Given the description of an element on the screen output the (x, y) to click on. 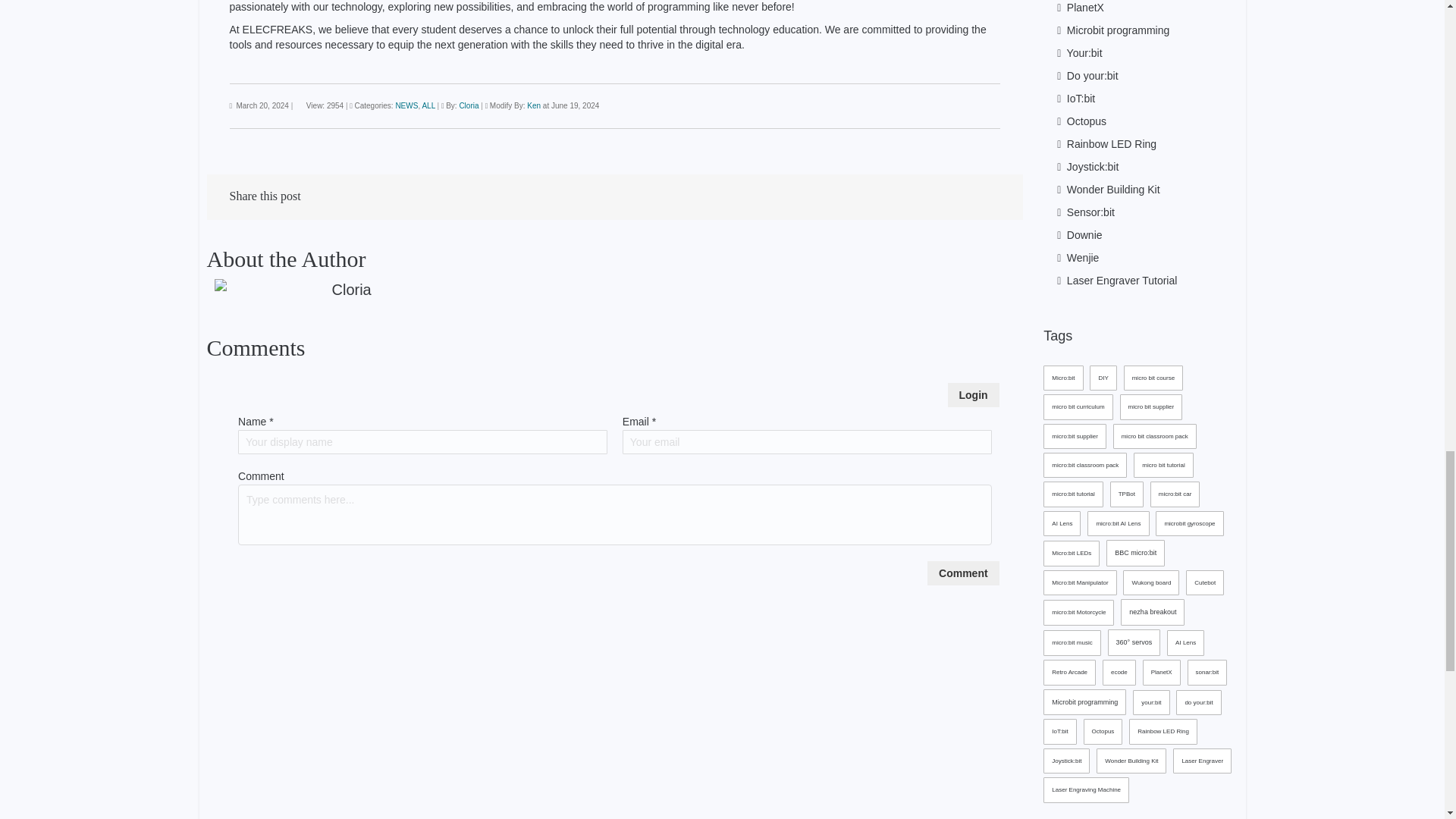
Ken (533, 105)
Comment (962, 573)
Login (972, 395)
NEWS (405, 105)
Cloria (468, 105)
ALL (427, 105)
